Given the description of an element on the screen output the (x, y) to click on. 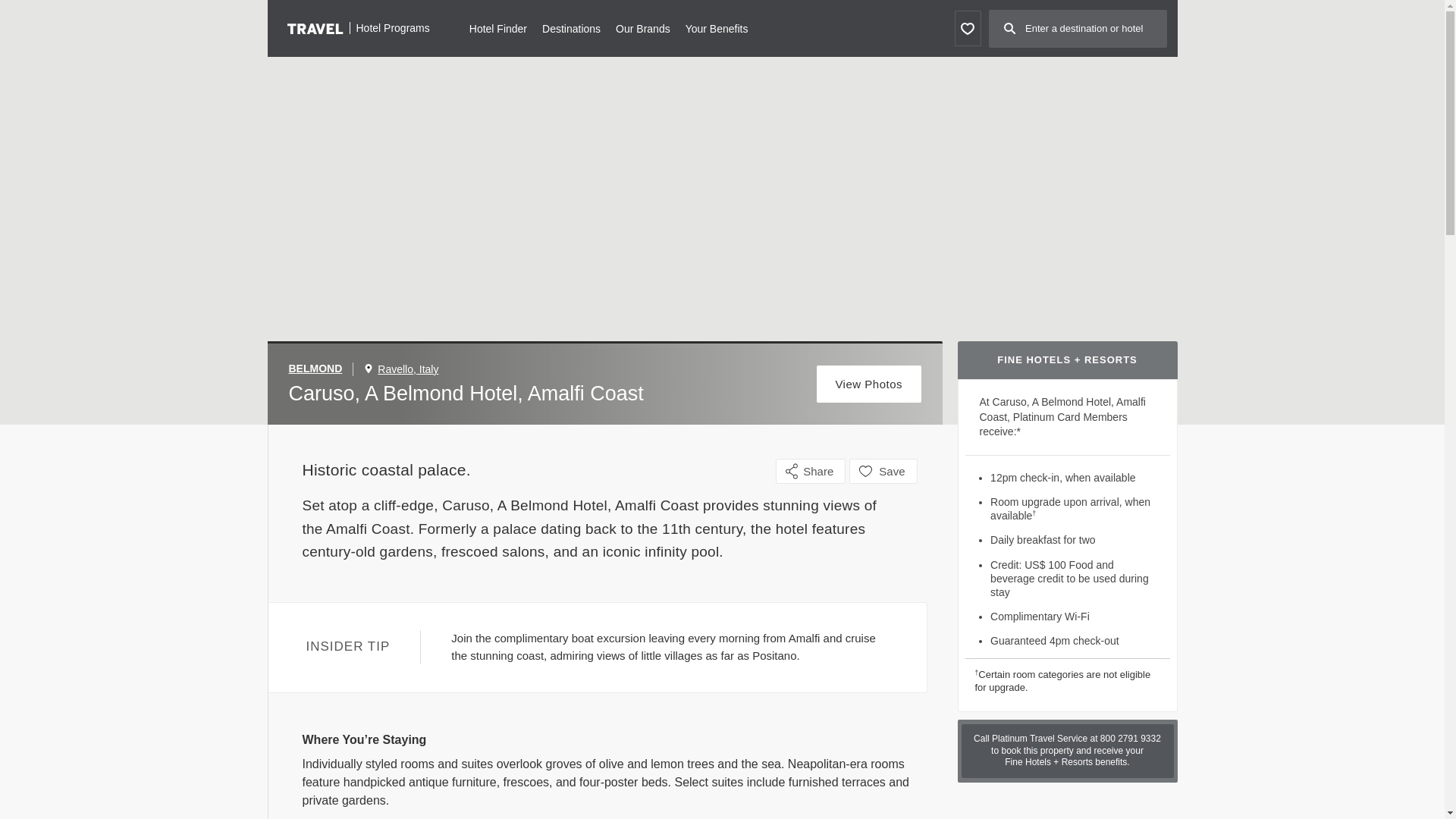
Destinations (570, 27)
View Photos (868, 383)
Our Brands (642, 27)
Hotel Programs (357, 27)
Share (810, 471)
Hotel Finder (497, 27)
Ravello, Italy (407, 369)
Your Benefits (716, 27)
Save (882, 471)
BELMOND (320, 368)
